Given the description of an element on the screen output the (x, y) to click on. 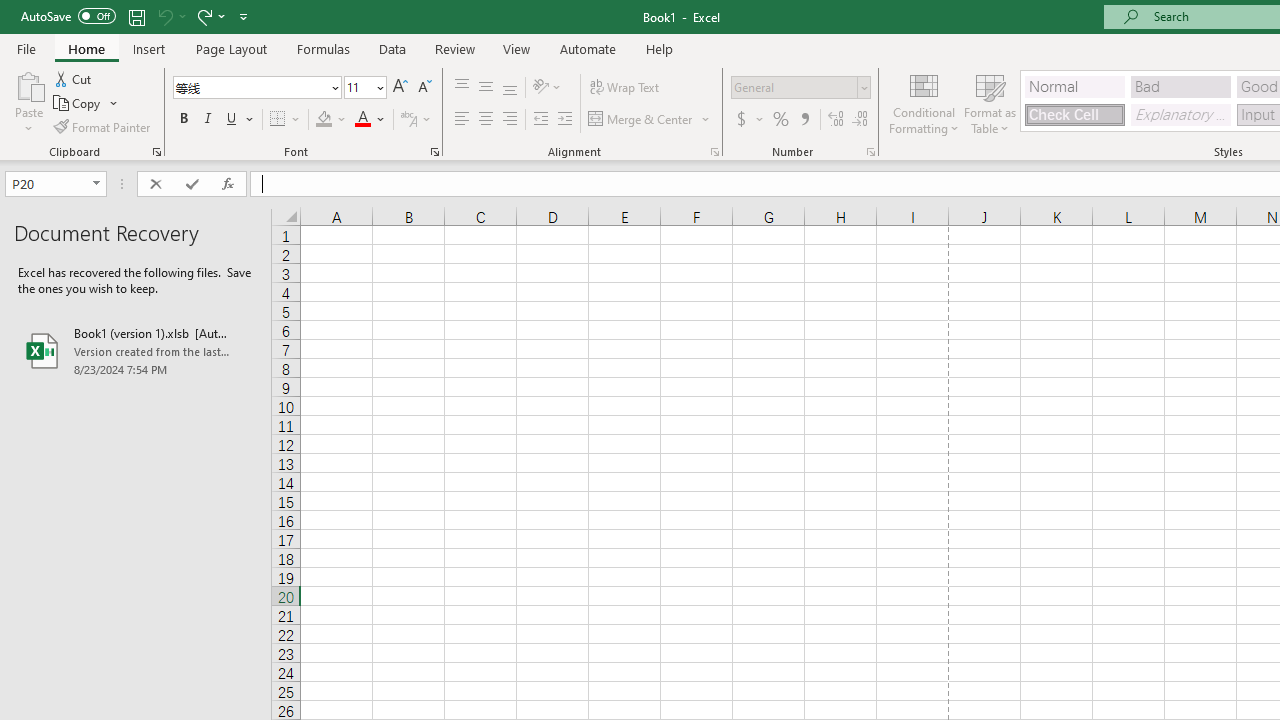
Number Format (794, 87)
Office Clipboard... (156, 151)
Check Cell (1074, 114)
Cut (73, 78)
Show Phonetic Field (416, 119)
Bad (1180, 86)
Paste (28, 84)
Accounting Number Format (749, 119)
Font Size (365, 87)
Bold (183, 119)
Paste (28, 102)
Format Painter (103, 126)
